Given the description of an element on the screen output the (x, y) to click on. 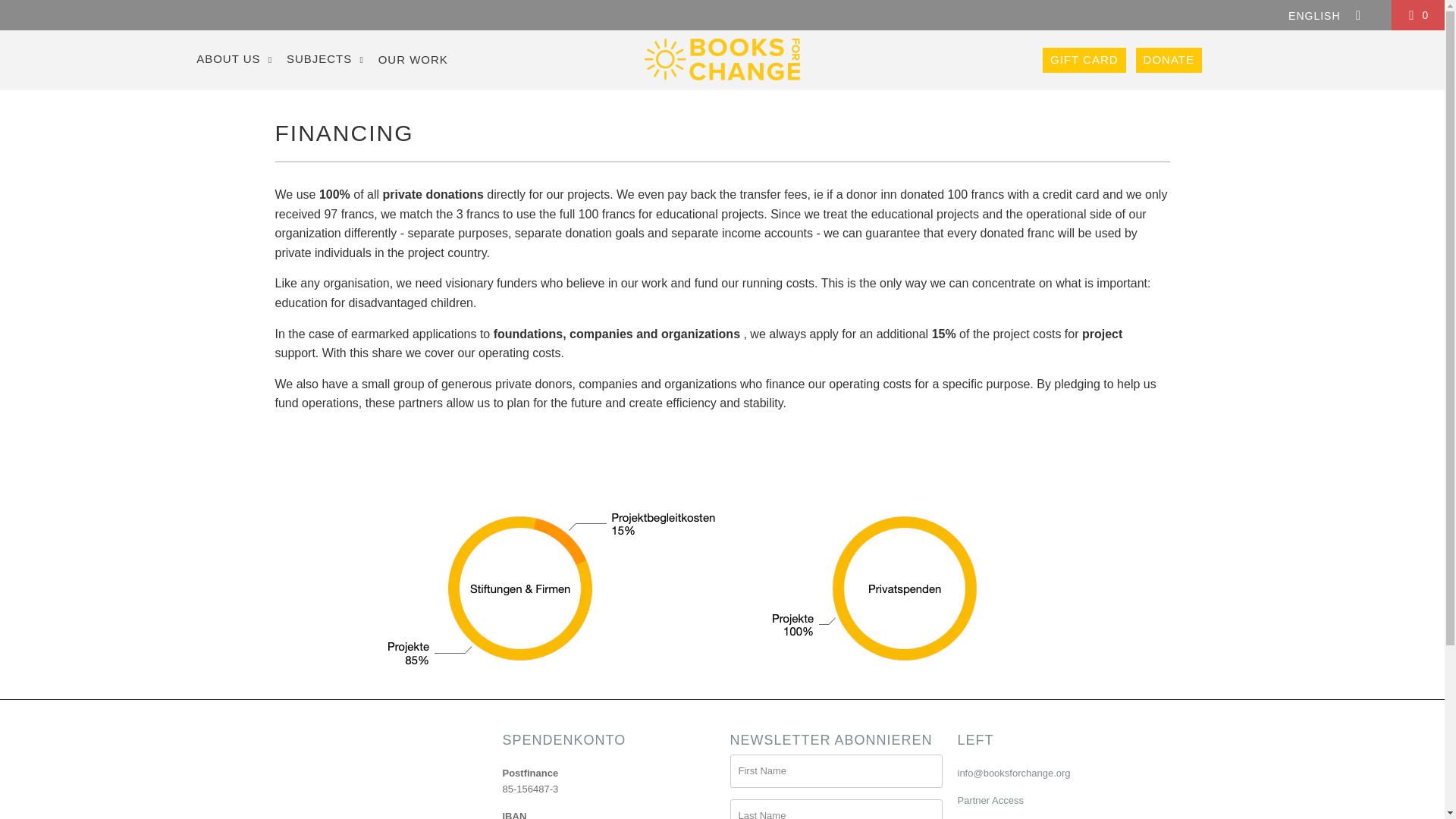
BOOKS   FOR   CHANGE (722, 59)
